Given the description of an element on the screen output the (x, y) to click on. 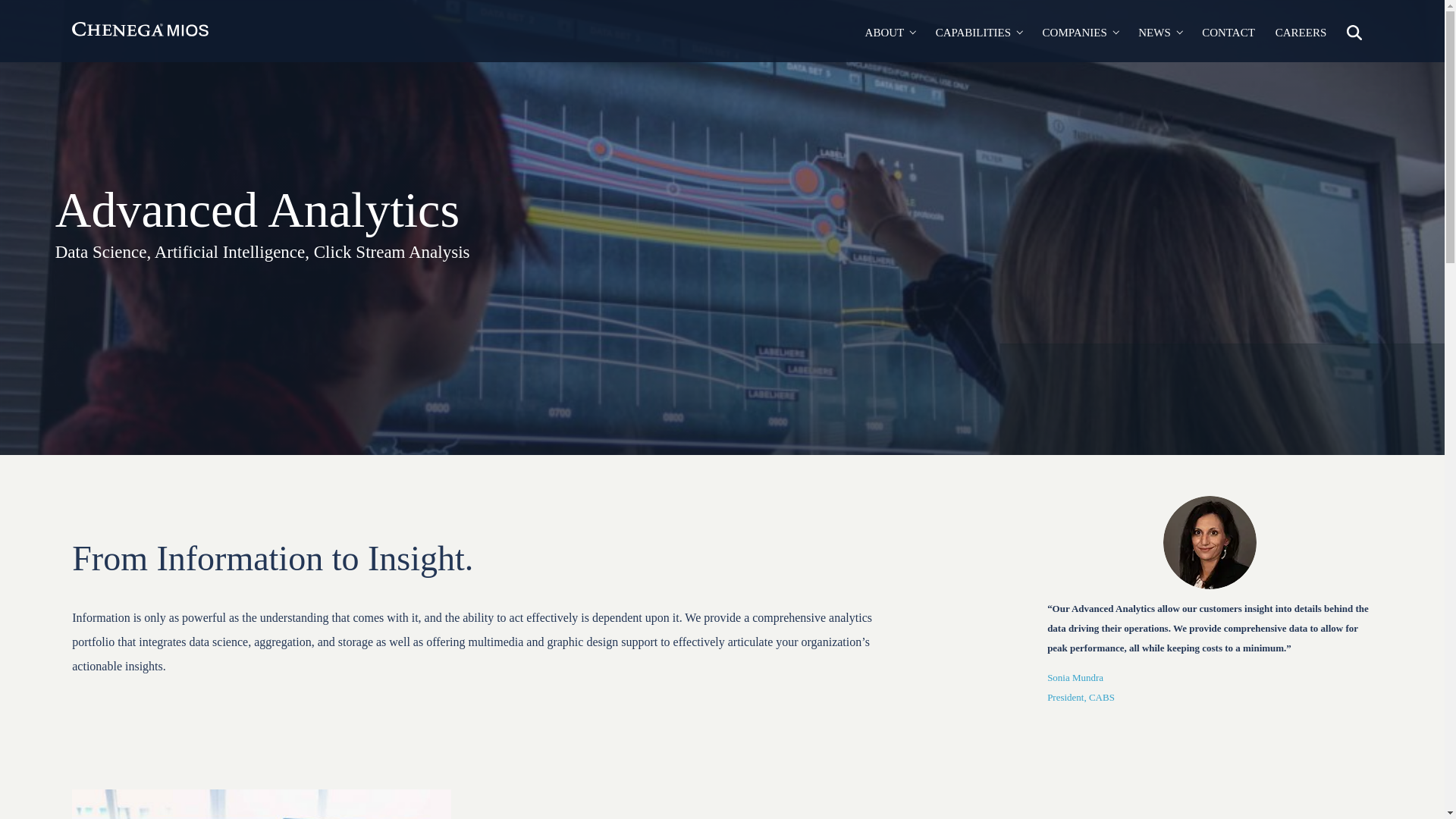
CAPABILITIES (979, 32)
ABOUT (889, 32)
COMPANIES (1080, 32)
